Given the description of an element on the screen output the (x, y) to click on. 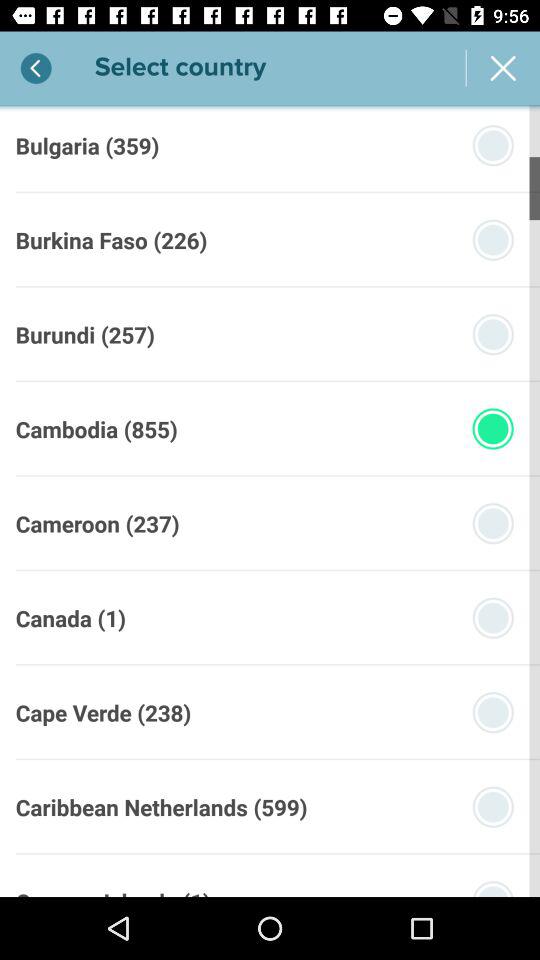
press cameroon (237) icon (97, 523)
